Given the description of an element on the screen output the (x, y) to click on. 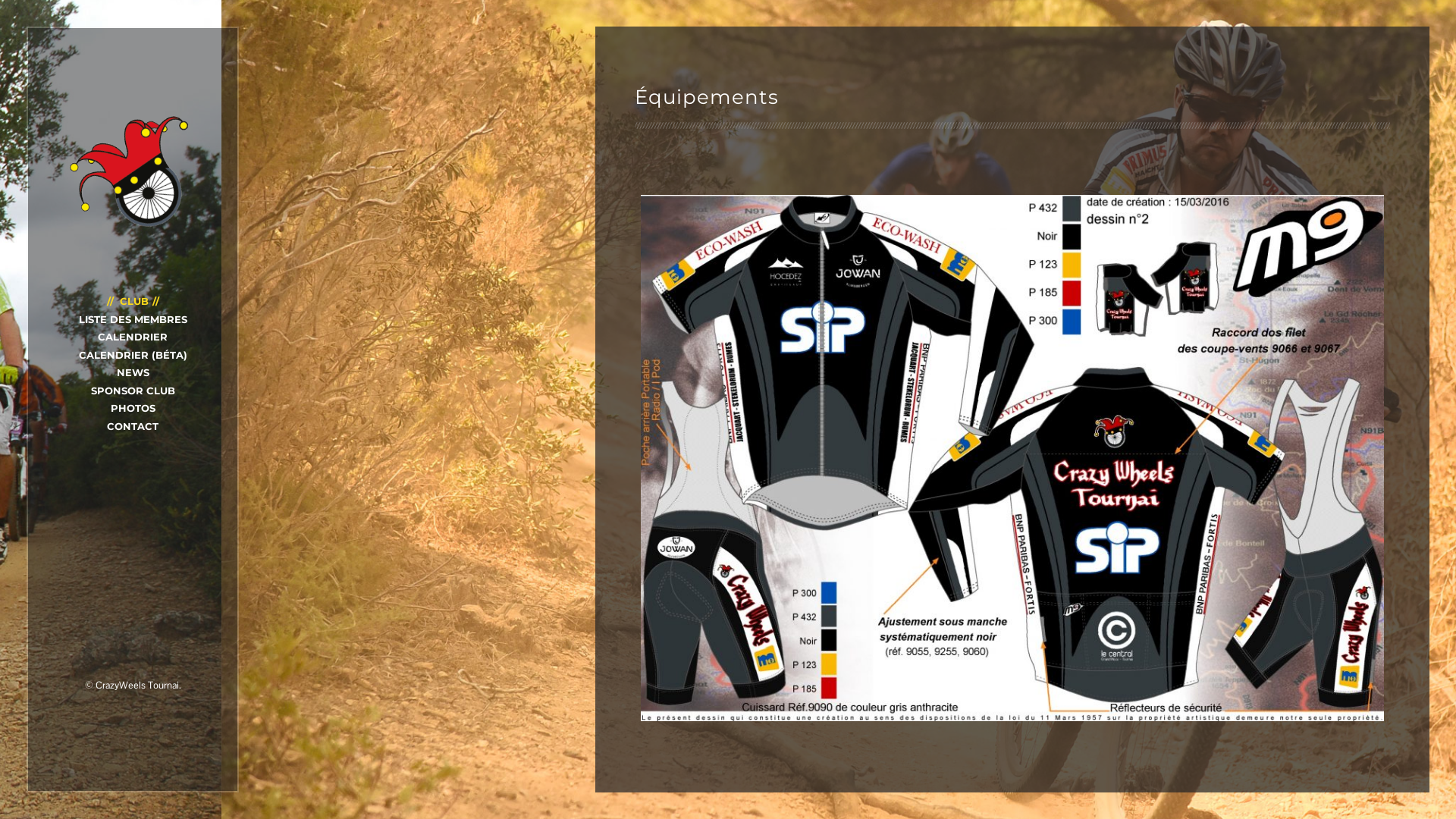
CALENDRIER Element type: text (132, 336)
SPONSOR CLUB Element type: text (133, 389)
NEWS Element type: text (132, 372)
CrazyWheels Tournai Element type: hover (132, 174)
LISTE DES MEMBRES Element type: text (132, 318)
CLUB Element type: text (132, 300)
PHOTOS Element type: text (132, 407)
CONTACT Element type: text (132, 426)
